Given the description of an element on the screen output the (x, y) to click on. 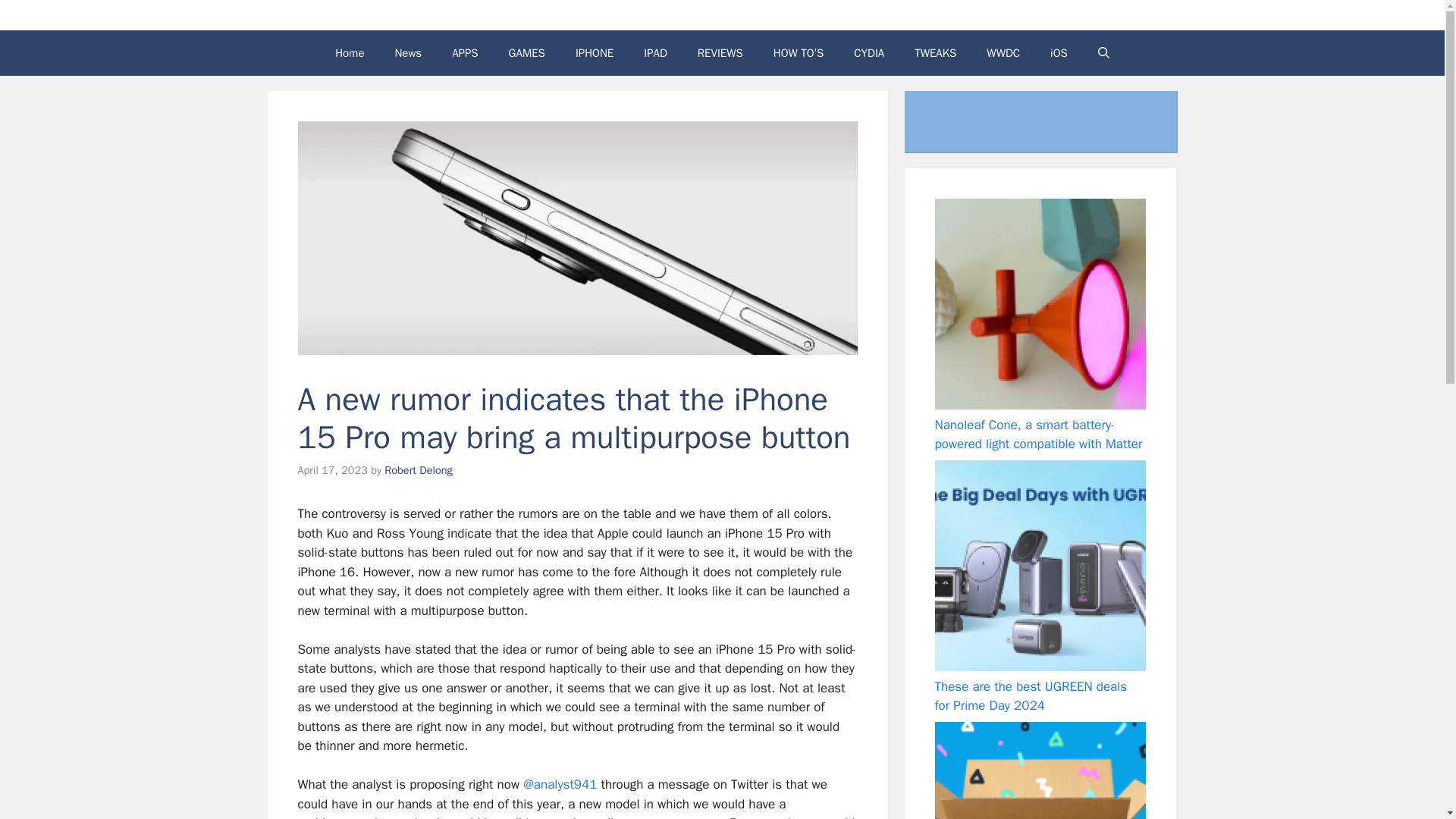
View all posts by Robert Delong (417, 468)
GAMES (526, 53)
iOS (1059, 53)
APPS (464, 53)
CYDIA (868, 53)
These are the best UGREEN deals for Prime Day 2024 (1030, 695)
Home (349, 53)
TWEAKS (935, 53)
Robert Delong (417, 468)
REVIEWS (720, 53)
News (407, 53)
IPAD (655, 53)
